Given the description of an element on the screen output the (x, y) to click on. 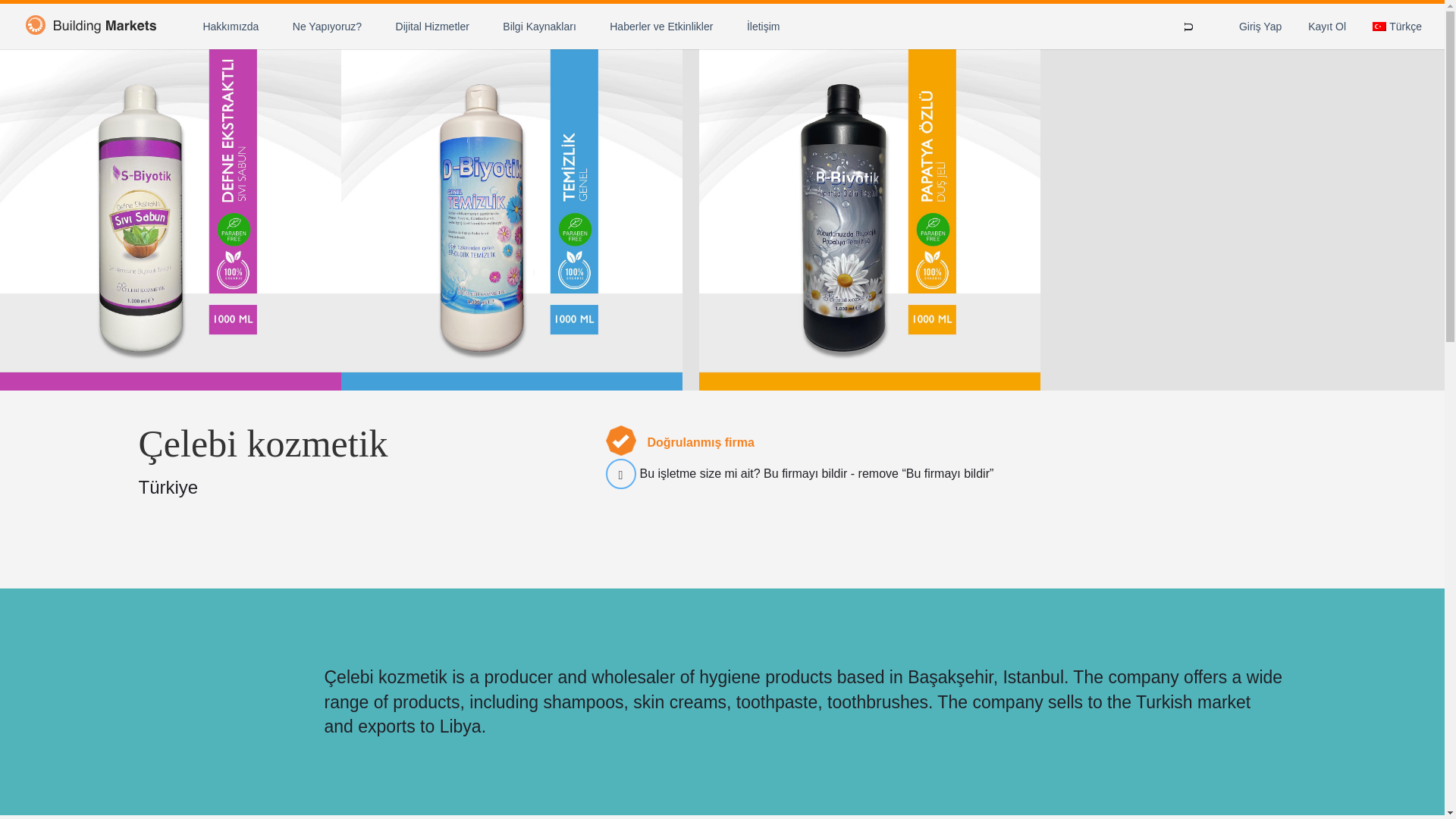
Dijital Hizmetler (432, 26)
Haberler ve Etkinlikler (661, 26)
